Given the description of an element on the screen output the (x, y) to click on. 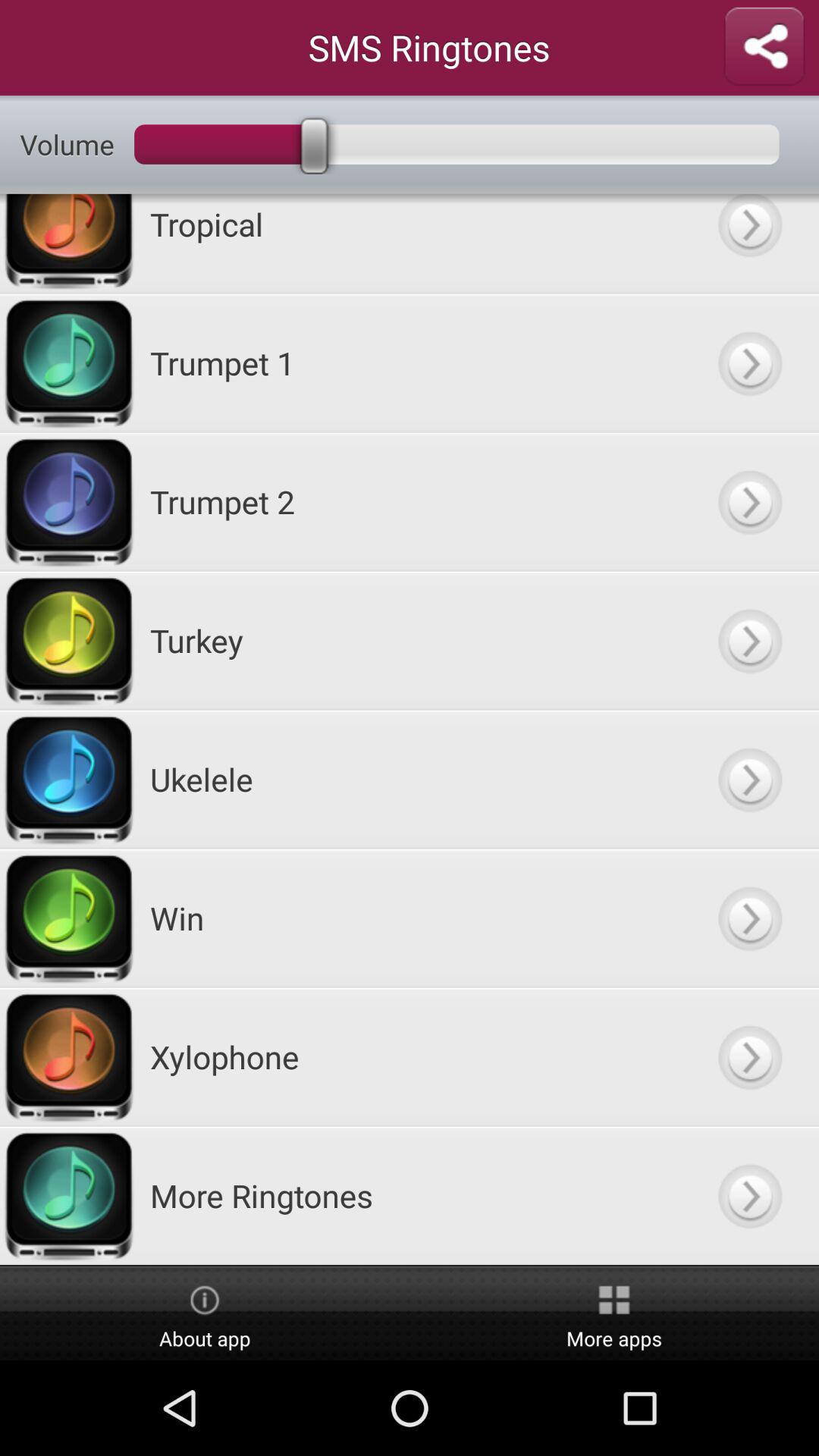
next button (749, 1056)
